Given the description of an element on the screen output the (x, y) to click on. 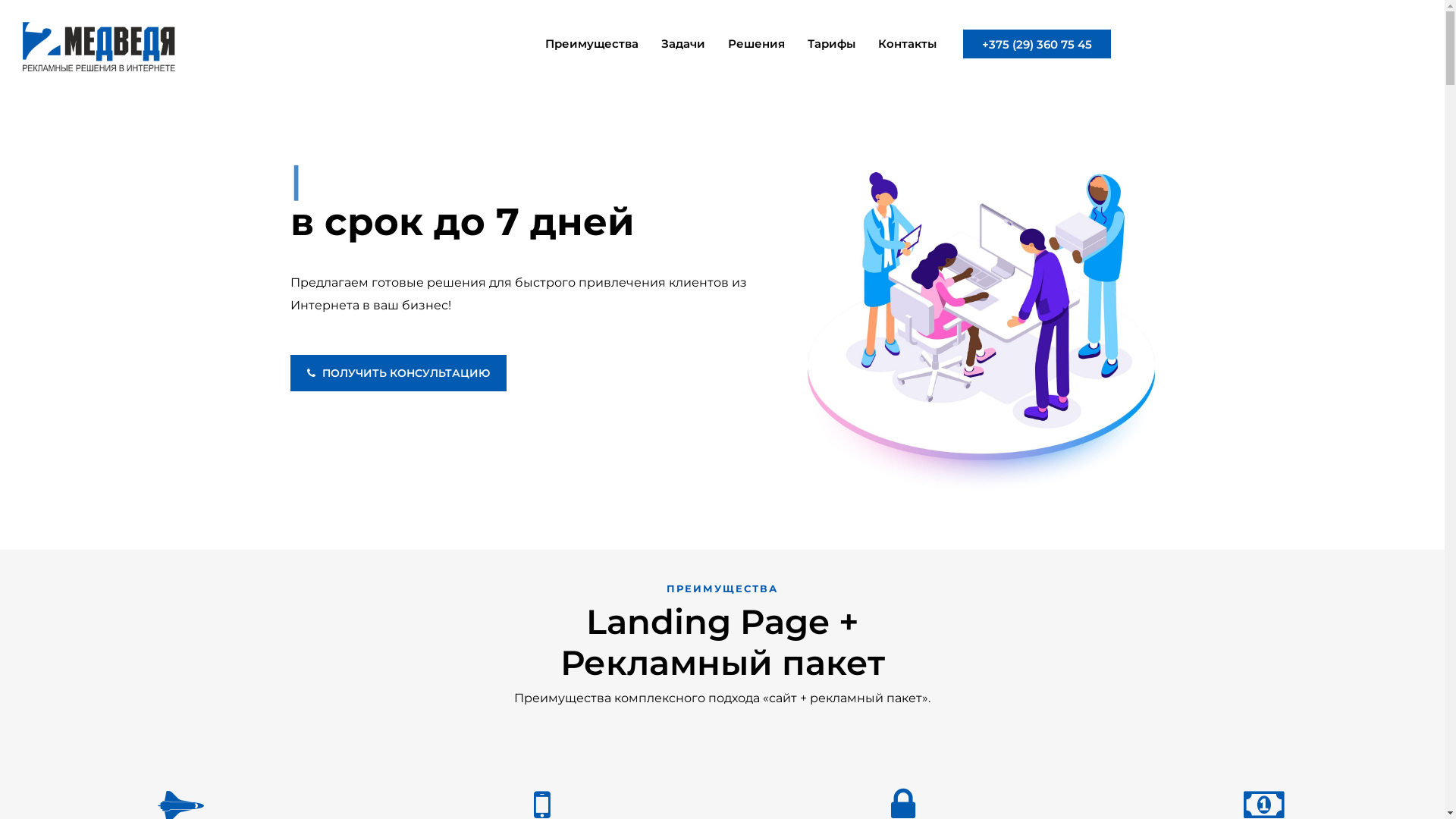
+375 (29) 360 75 45 Element type: text (1036, 43)
